Given the description of an element on the screen output the (x, y) to click on. 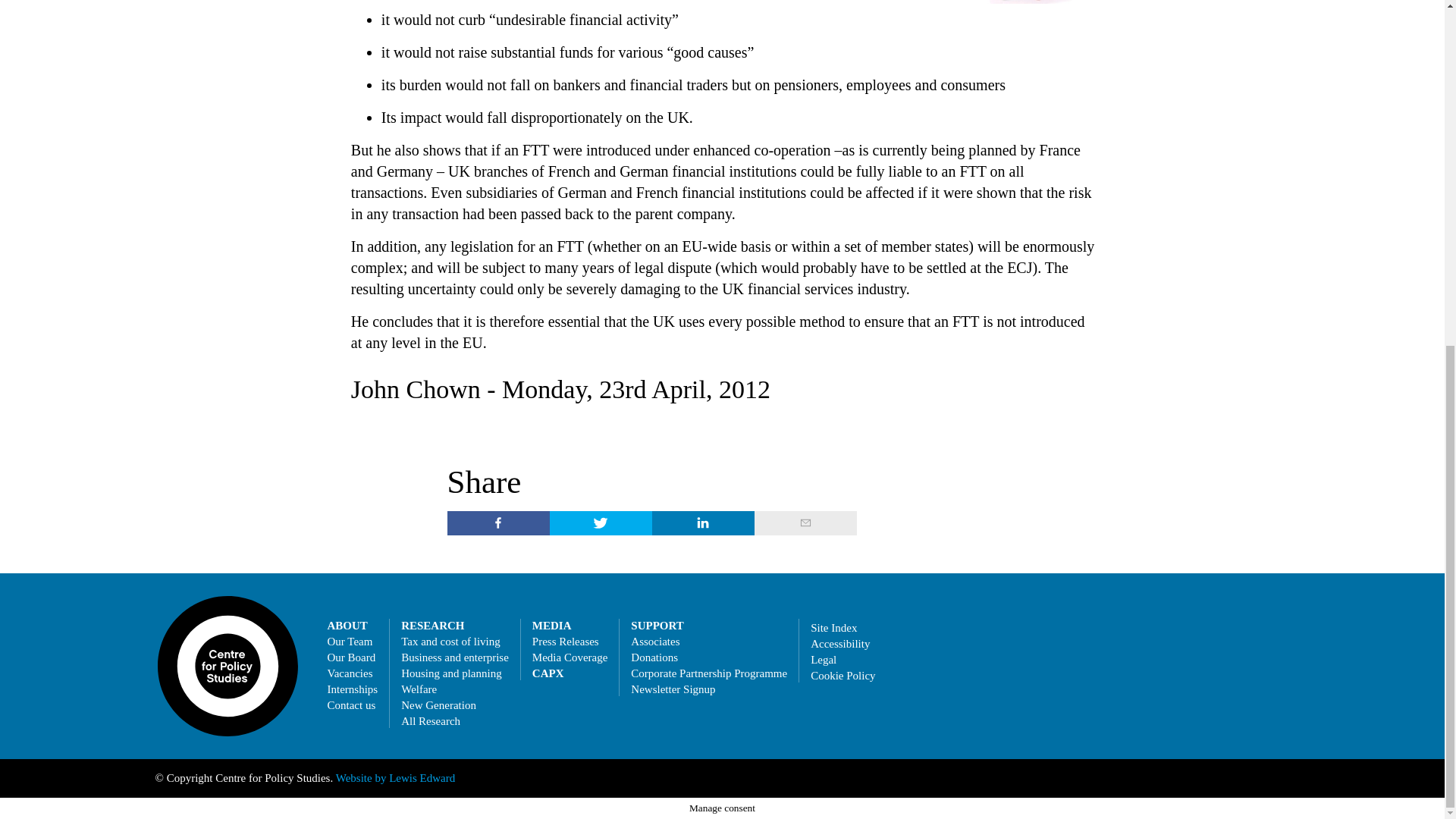
RESEARCH (432, 625)
Our Board (351, 657)
Welfare (418, 689)
Vacancies (349, 673)
Contact us (351, 705)
Housing and planning (451, 673)
Our Team (349, 641)
Business and enterprise (454, 657)
Internships (352, 689)
ABOUT (347, 625)
Tax and cost of living (450, 641)
